Given the description of an element on the screen output the (x, y) to click on. 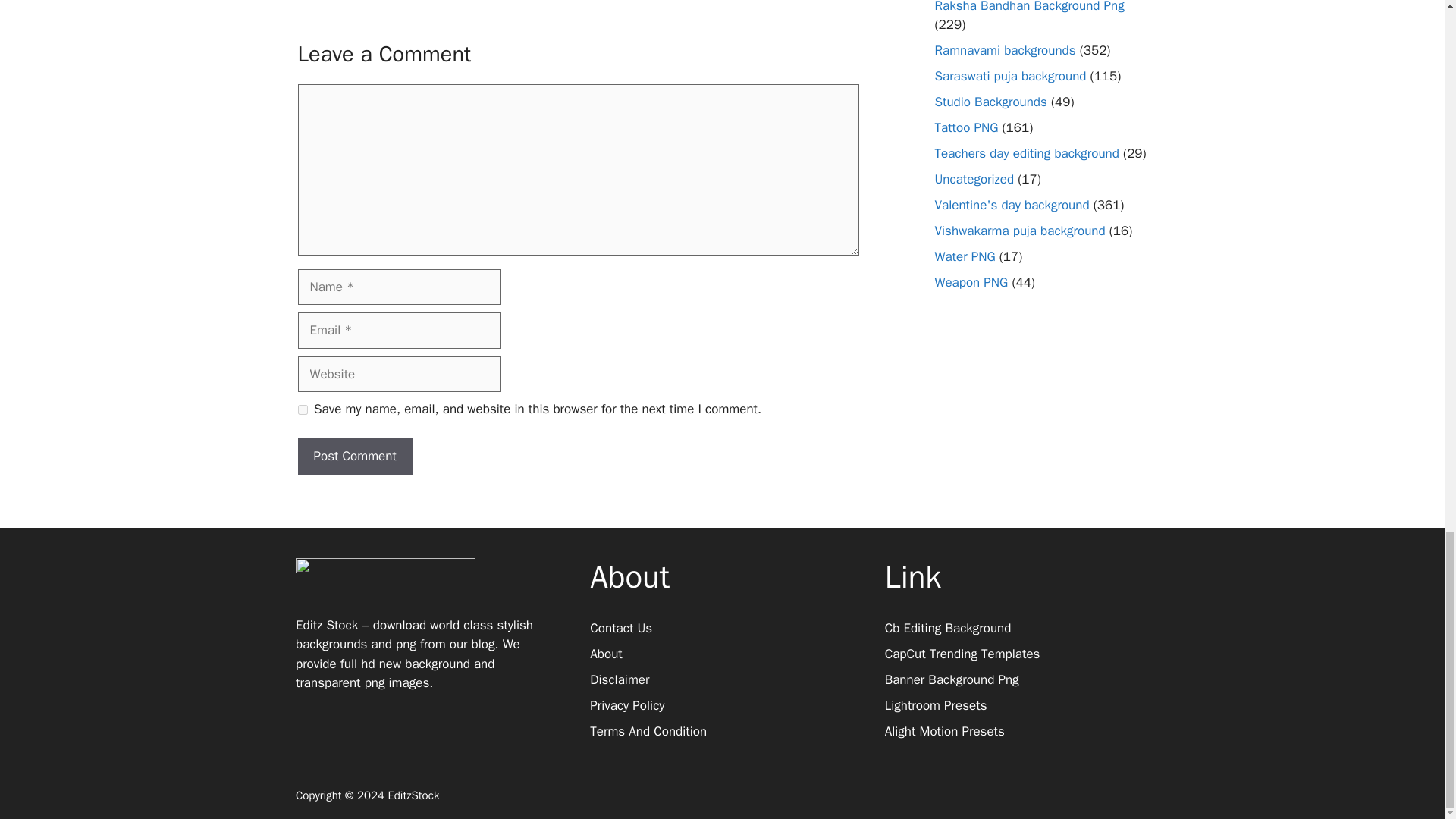
Post Comment (354, 456)
Post Comment (354, 456)
yes (302, 409)
